Given the description of an element on the screen output the (x, y) to click on. 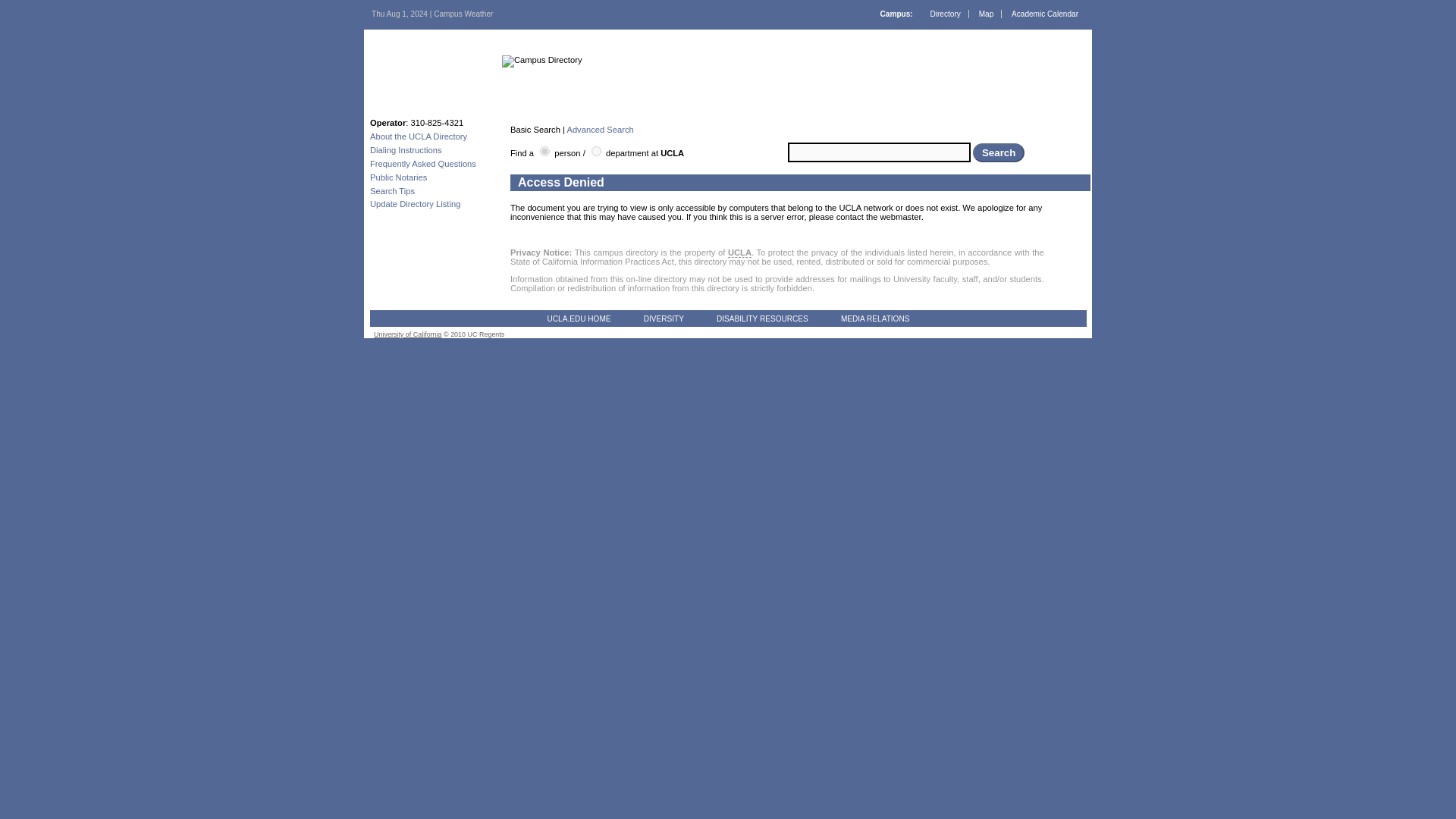
DIVERSITY (663, 318)
Search (998, 152)
department (596, 151)
DISABILITY RESOURCES (762, 318)
University of California (408, 334)
Advanced Search (599, 129)
UCLA.EDU HOME (579, 318)
Campus Weather (463, 13)
MEDIA RELATIONS (874, 318)
Update Directory Listing (414, 203)
